Given the description of an element on the screen output the (x, y) to click on. 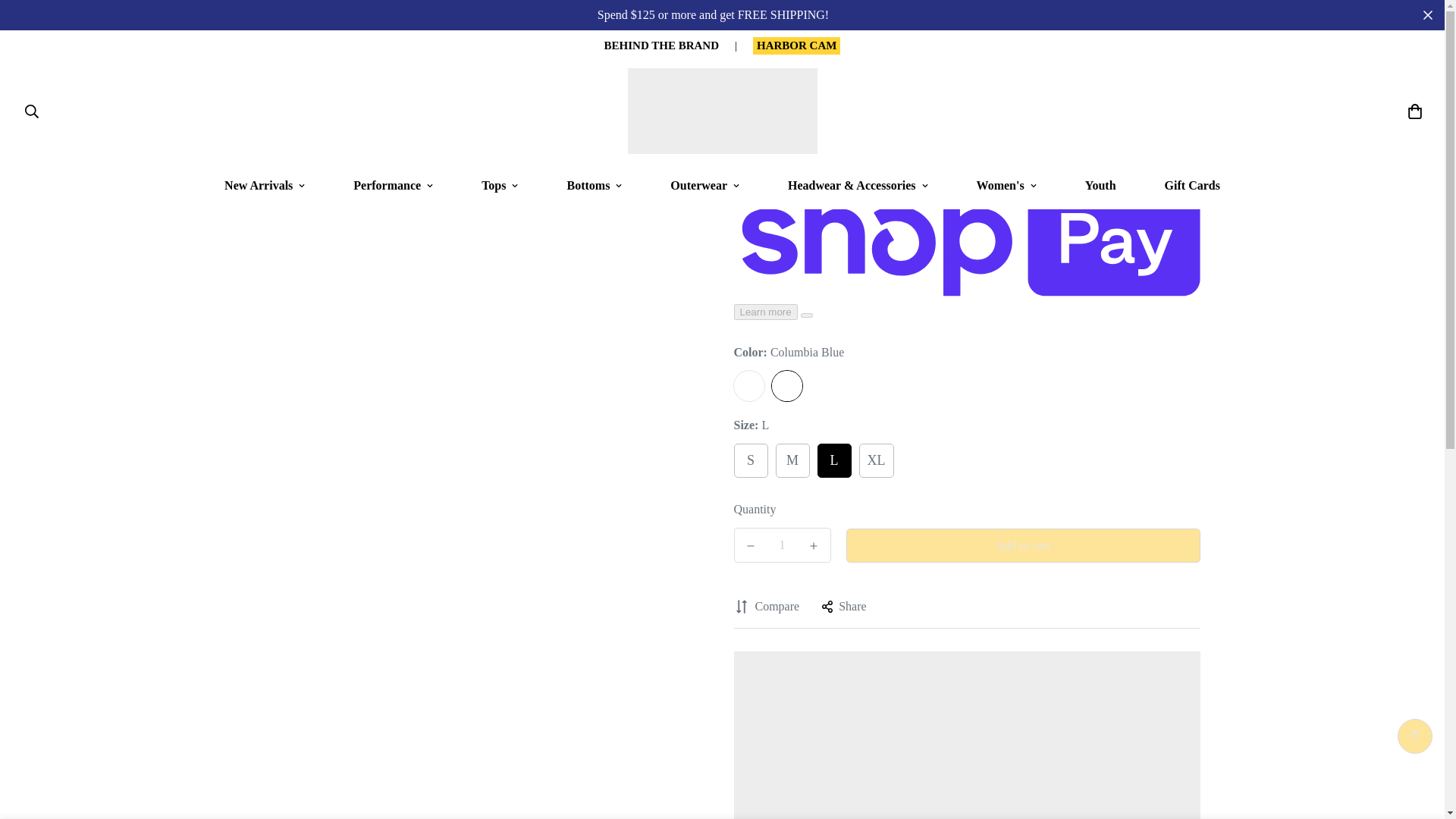
HARBOR CAM (796, 44)
New Arrivals (264, 185)
Performance (393, 185)
BEHIND THE BRAND (661, 44)
1 (782, 544)
